Given the description of an element on the screen output the (x, y) to click on. 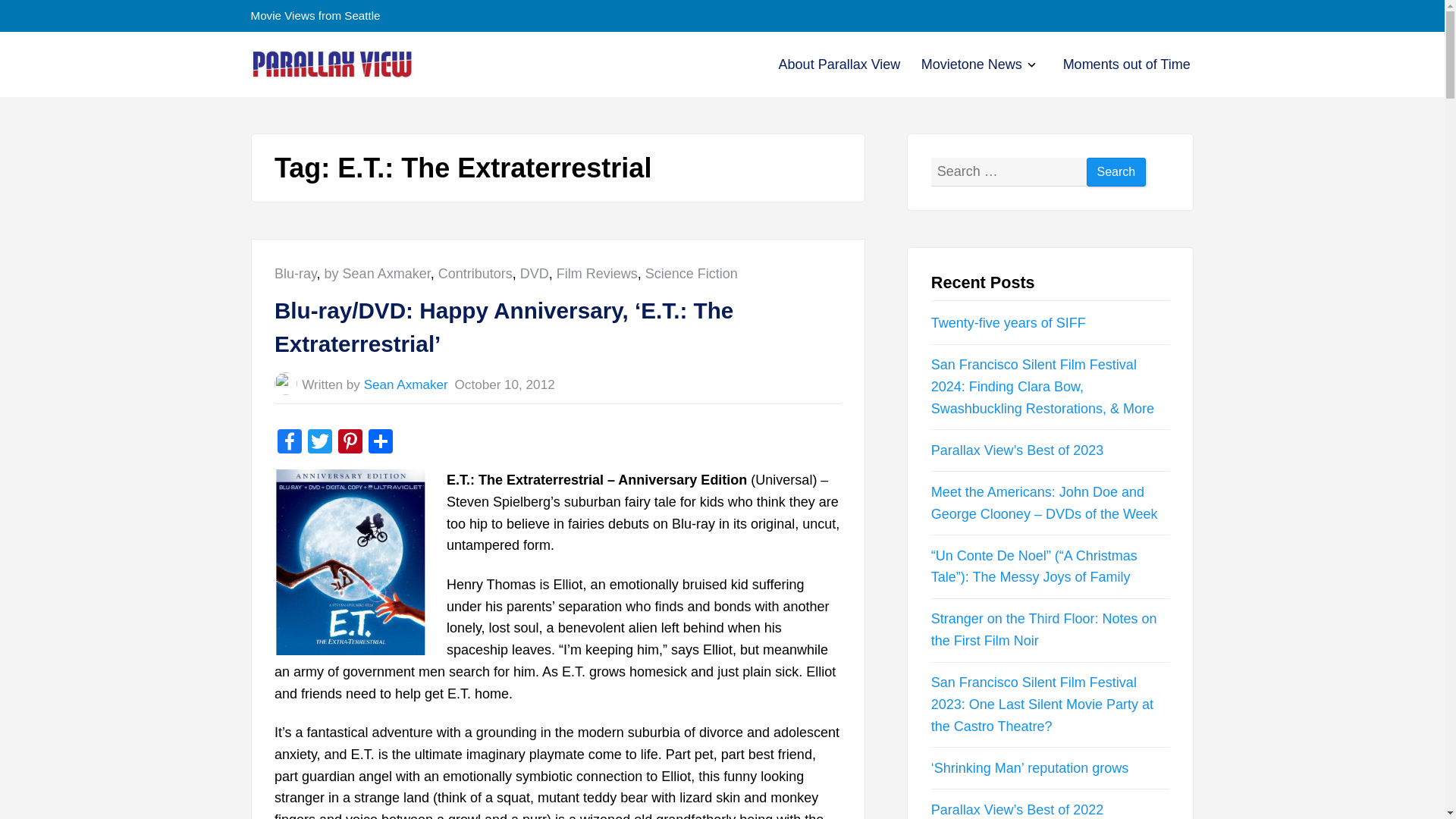
Movietone News (971, 64)
About Parallax View (839, 64)
Facebook (289, 443)
Twenty-five years of SIFF (1008, 322)
Twitter (319, 443)
Science Fiction (691, 273)
Twitter (319, 443)
Search (1029, 66)
Film Reviews (1115, 172)
About Parallax View (596, 273)
Search (839, 64)
Pinterest (1115, 172)
Share (349, 443)
Blu-ray (380, 443)
